Given the description of an element on the screen output the (x, y) to click on. 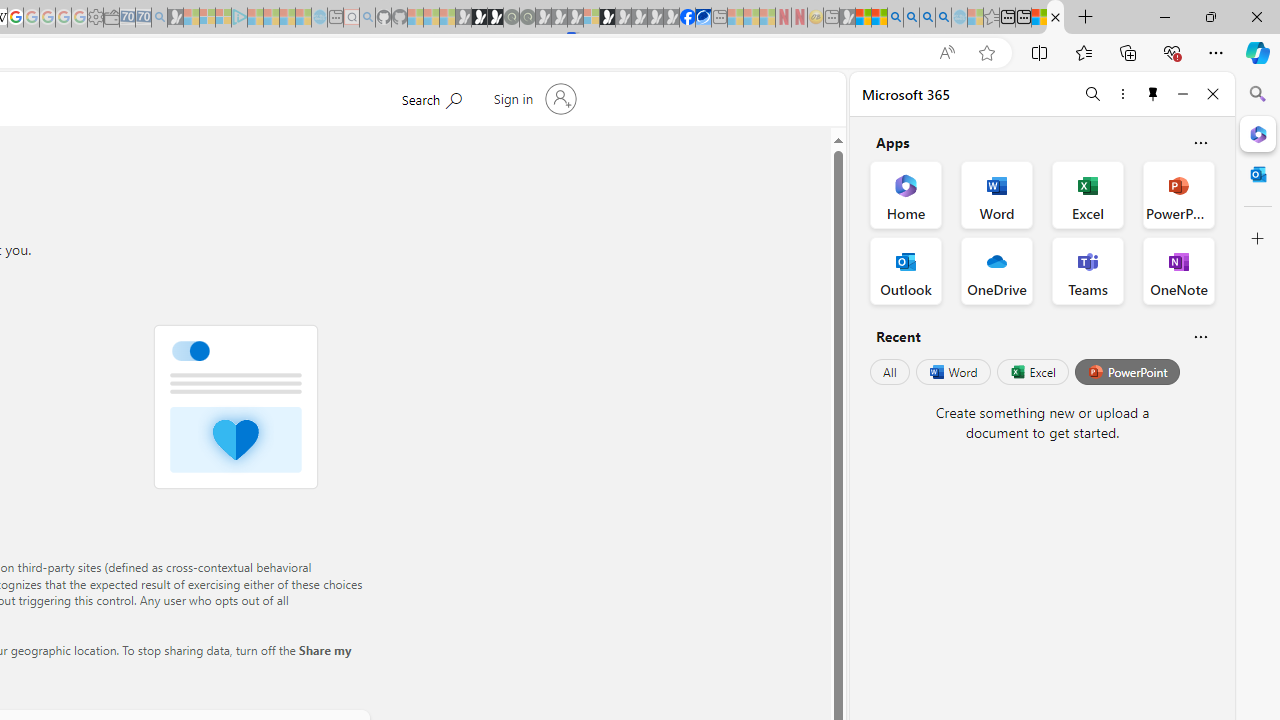
Outlook Office App (906, 270)
All (890, 372)
Search Microsoft.com (431, 97)
